Given the description of an element on the screen output the (x, y) to click on. 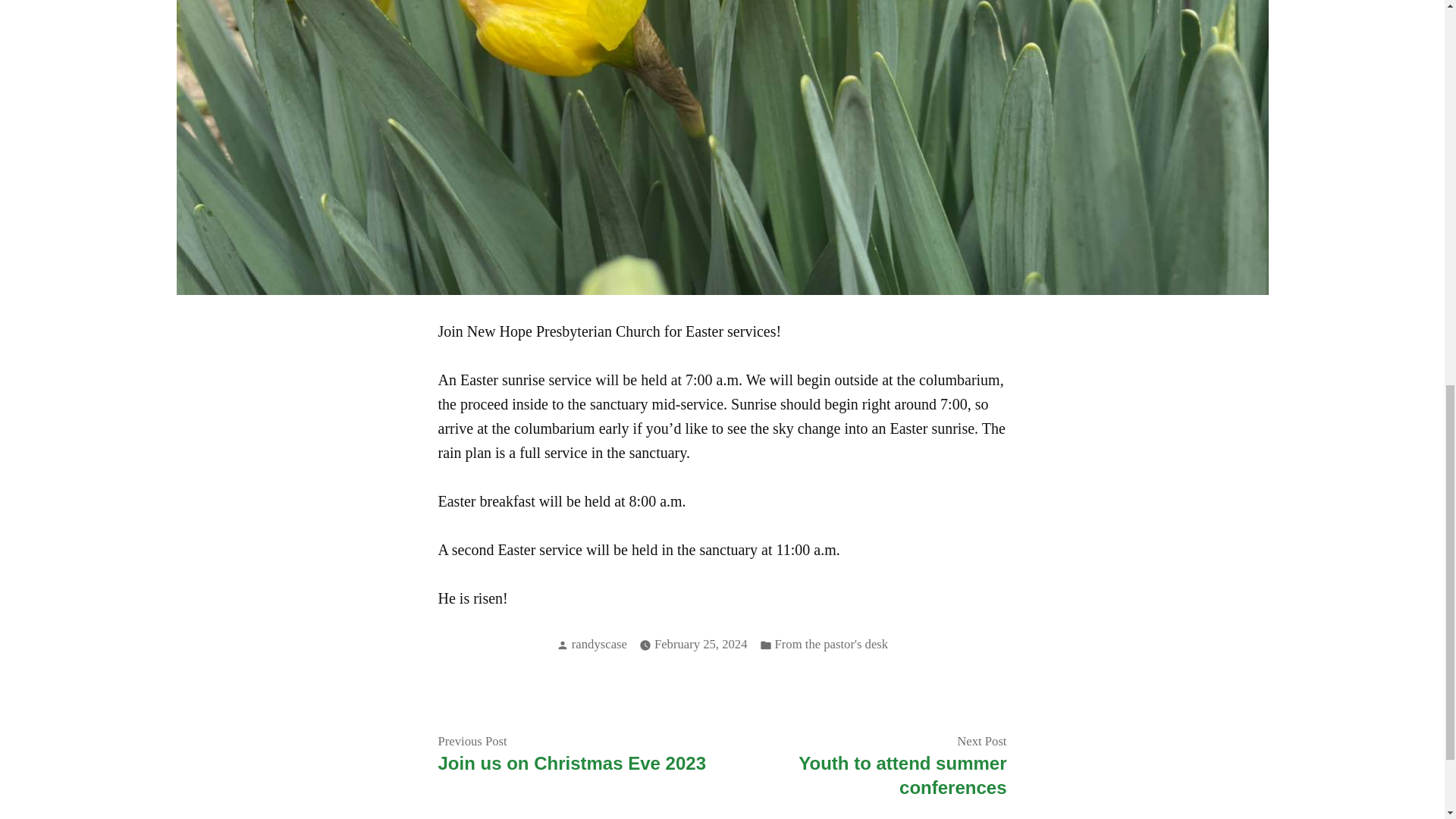
From the pastor's desk (831, 644)
randyscase (599, 644)
February 25, 2024 (700, 644)
